Given the description of an element on the screen output the (x, y) to click on. 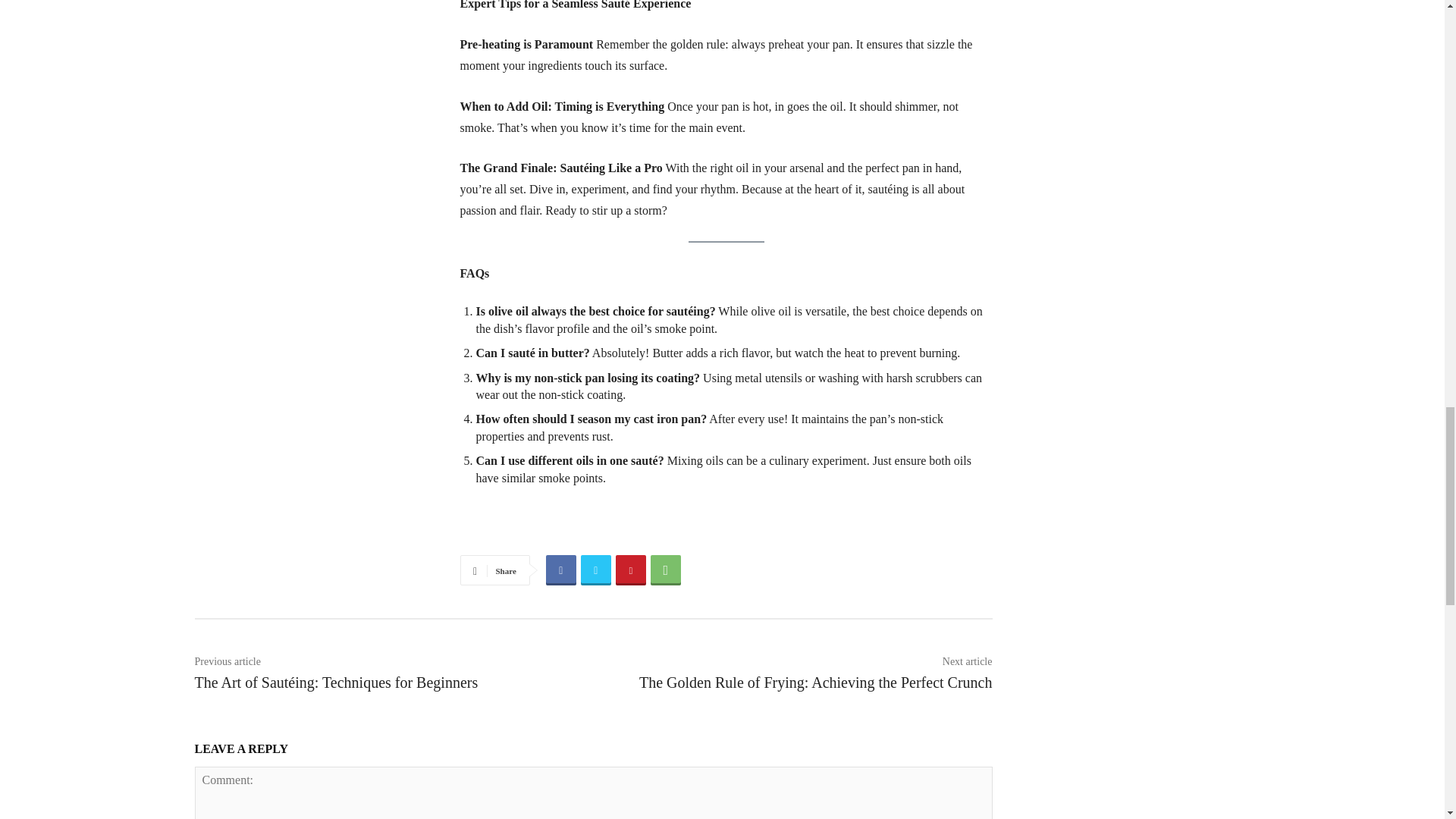
Facebook (561, 570)
Twitter (595, 570)
